Given the description of an element on the screen output the (x, y) to click on. 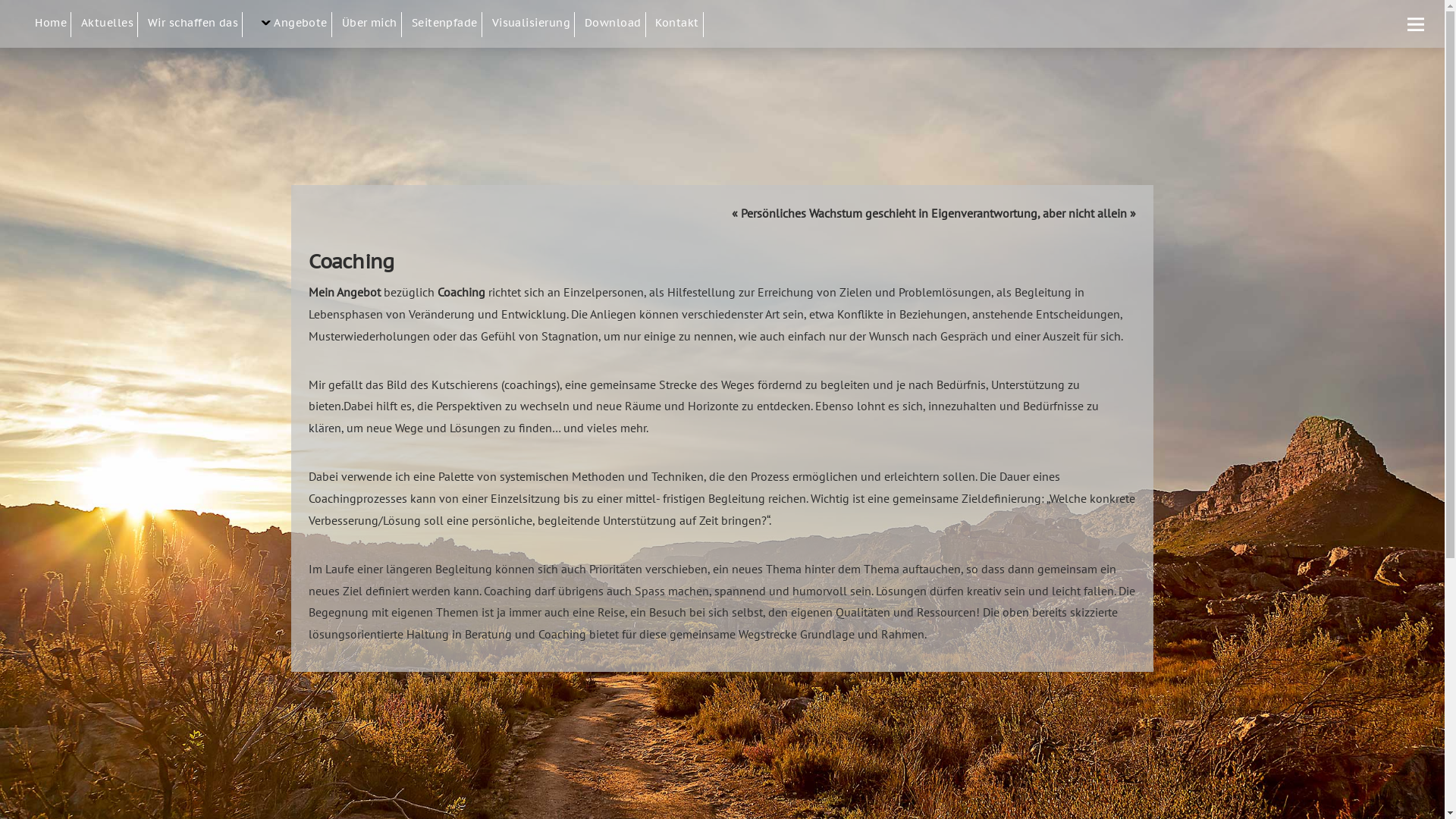
News Element type: text (157, 55)
Prozessbegleitung und Beratung Element type: text (224, 55)
Biografie Element type: text (418, 55)
Wilde Erdbeeren Element type: text (488, 55)
Aktuelles Element type: text (109, 24)
Kontakt Element type: text (678, 24)
Home Element type: text (52, 24)
Wir schaffen das Element type: text (195, 24)
Beratung Element type: text (330, 55)
Angebote Element type: text (292, 24)
Visualisierung Element type: text (533, 24)
Download Element type: text (615, 24)
Seitenpfade Element type: text (446, 24)
